Given the description of an element on the screen output the (x, y) to click on. 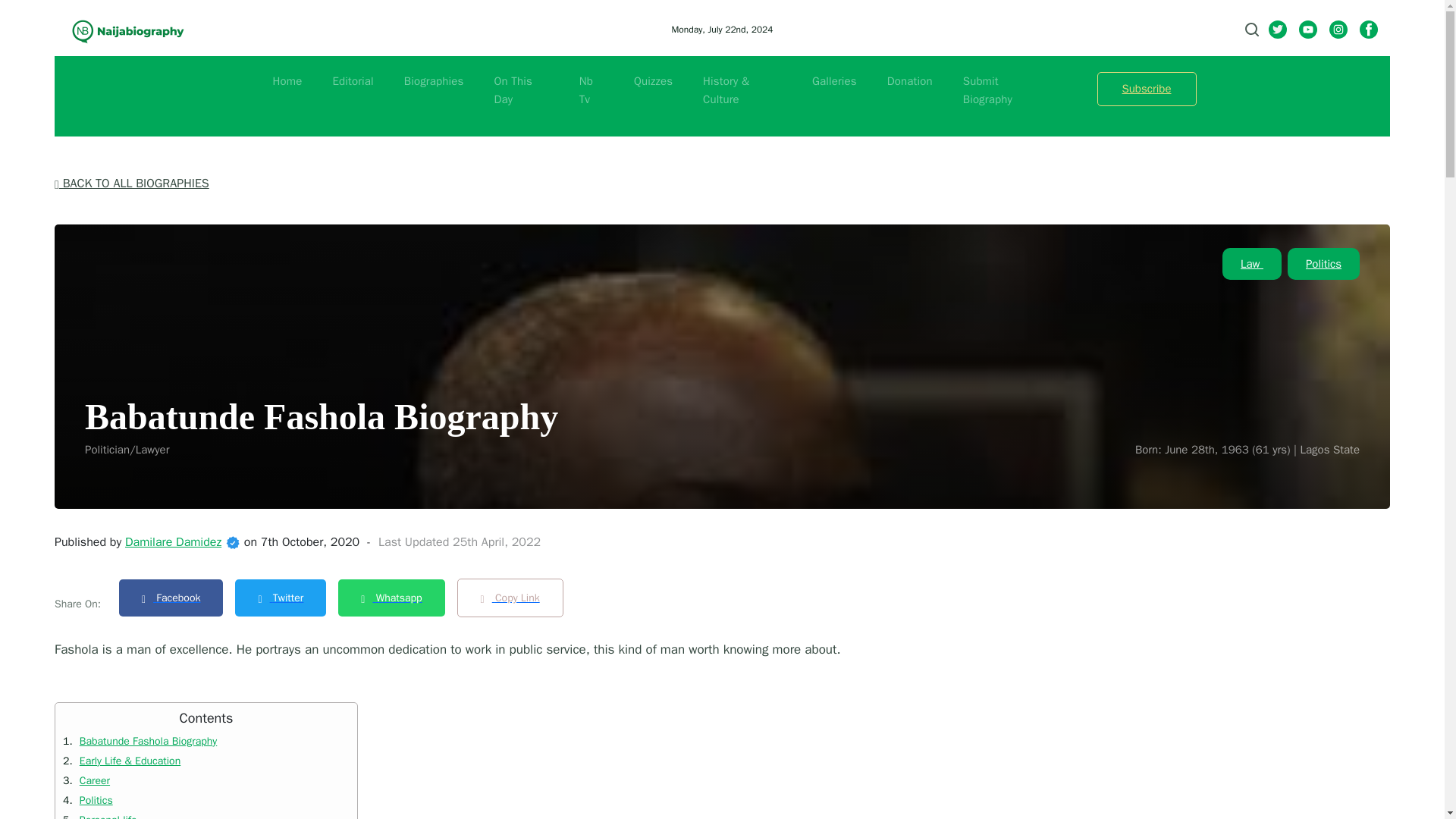
Law (1252, 264)
Whatsapp (397, 597)
Politics (94, 799)
Subscribe (1145, 89)
Donation (909, 80)
BACK TO ALL BIOGRAPHIES (132, 183)
Submit Biography (986, 90)
Babatunde Fashola Biography (145, 740)
Galleries (834, 80)
Facebook (177, 597)
Politics (1323, 264)
Twitter (285, 597)
Editorial (351, 80)
Copy Link (516, 597)
Core staff (232, 542)
